Given the description of an element on the screen output the (x, y) to click on. 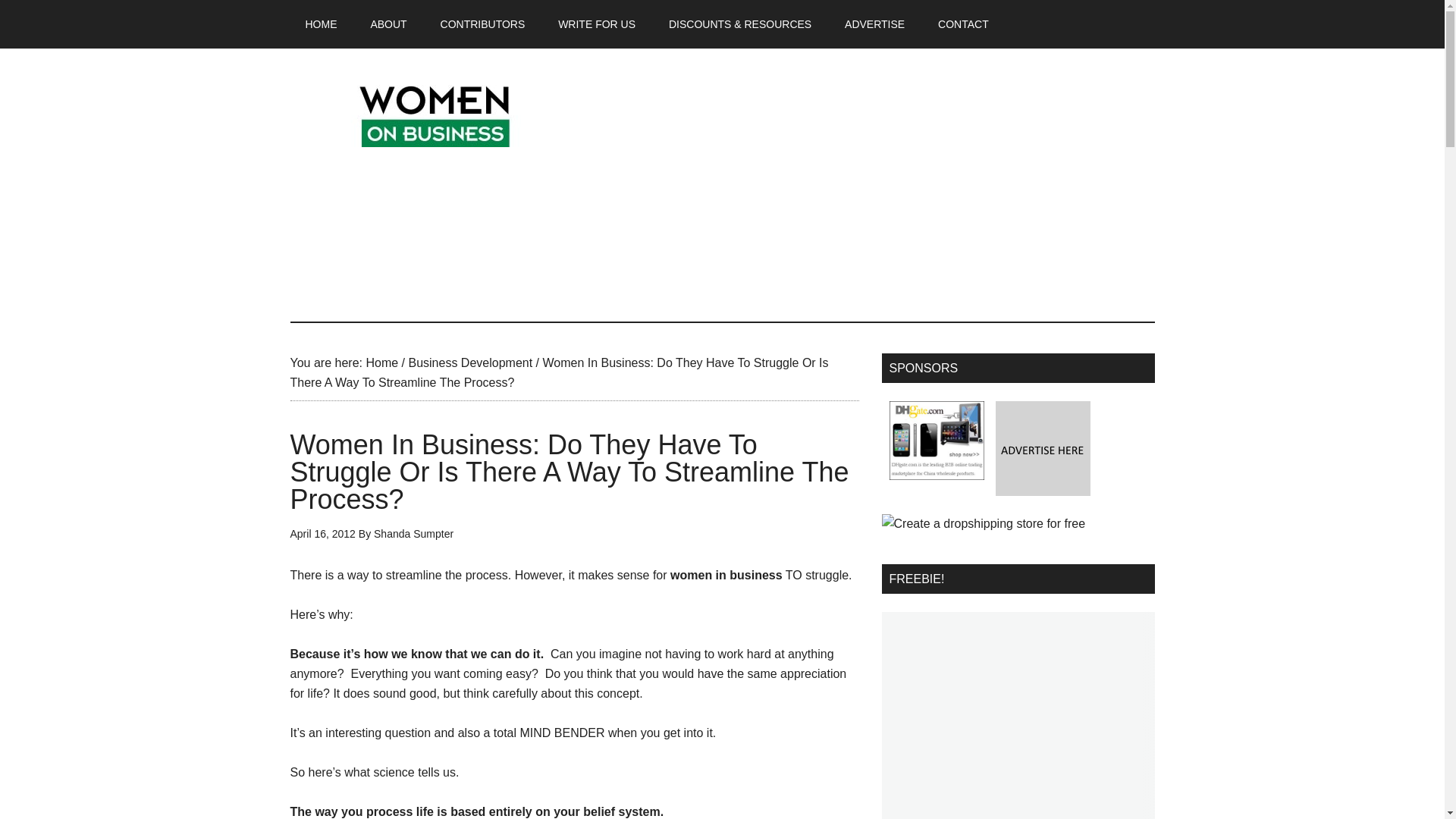
HOME (320, 24)
Business Development (469, 362)
ADVERTISE (874, 24)
ABOUT (388, 24)
Women on Business (433, 112)
CONTRIBUTORS (482, 24)
CONTACT (963, 24)
Shanda Sumpter (413, 533)
Home (381, 362)
DHgate - Do business with China wholesalers online (936, 440)
WRITE FOR US (596, 24)
